Given the description of an element on the screen output the (x, y) to click on. 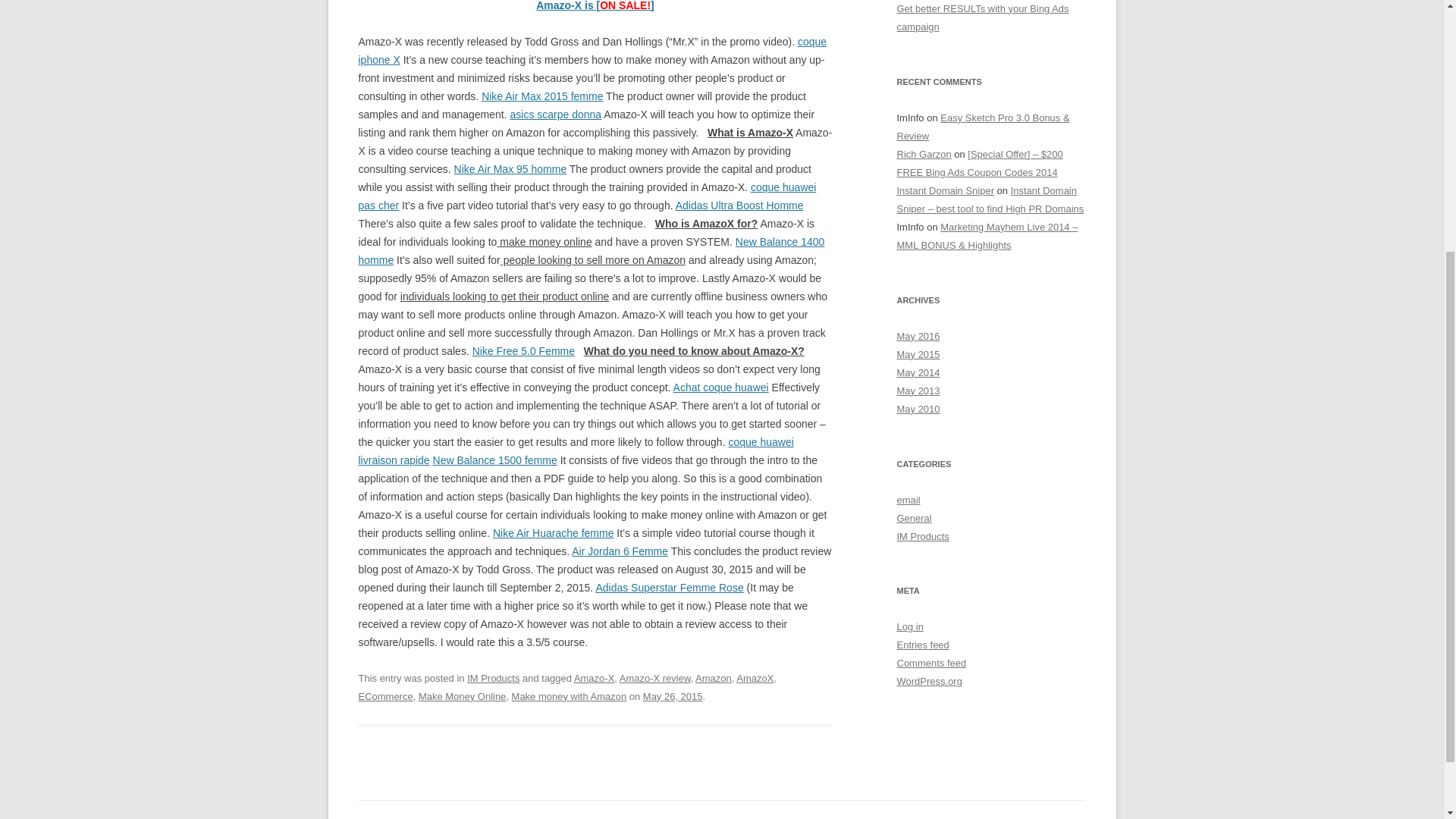
Adidas Superstar Femme Rose (668, 587)
Adidas Ultra Boost Homme (739, 205)
Achat coque huawei (720, 387)
Nike Air Max 95 homme (510, 168)
Make money with Amazon (569, 696)
coque iphone X (592, 51)
IM Products (493, 677)
Amazo-X (593, 677)
8:23 pm (673, 696)
Amazon (713, 677)
